Given the description of an element on the screen output the (x, y) to click on. 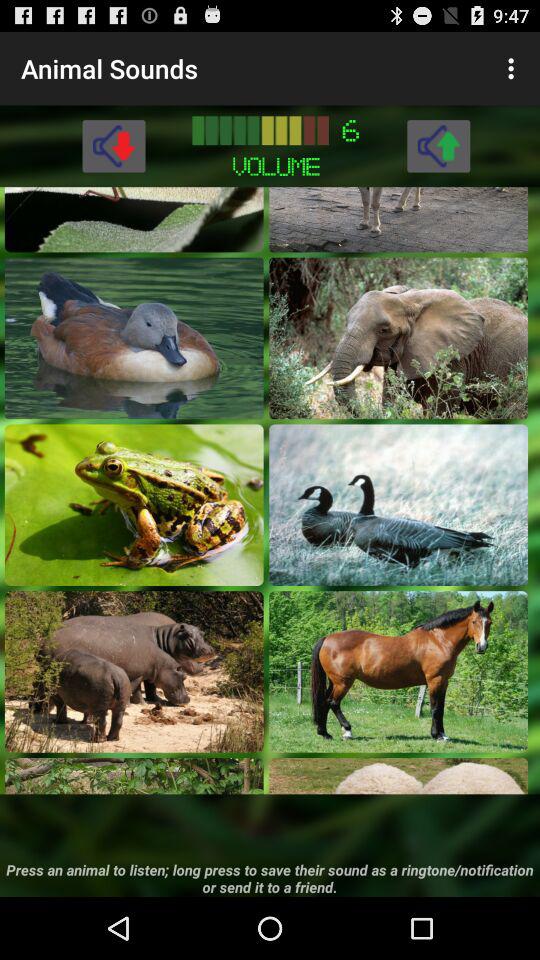
press to listen long press to save or send sound (133, 775)
